Given the description of an element on the screen output the (x, y) to click on. 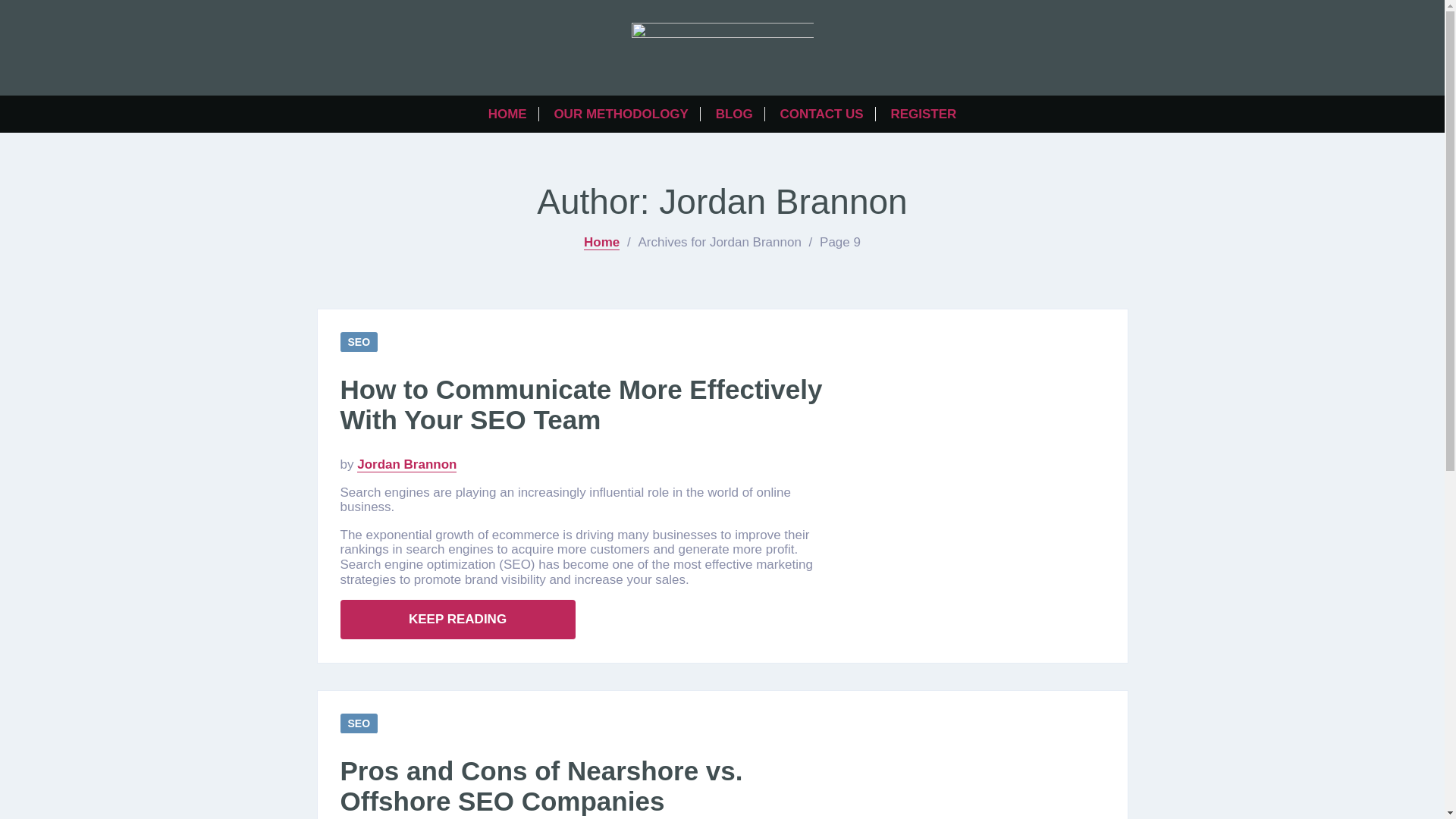
CONTACT US (821, 114)
HOME (507, 114)
SEO (358, 723)
OUR METHODOLOGY (620, 114)
REGISTER (922, 114)
Jordan Brannon (406, 464)
Home (601, 242)
KEEP READING (457, 619)
BLOG (734, 114)
SEO (358, 342)
